Given the description of an element on the screen output the (x, y) to click on. 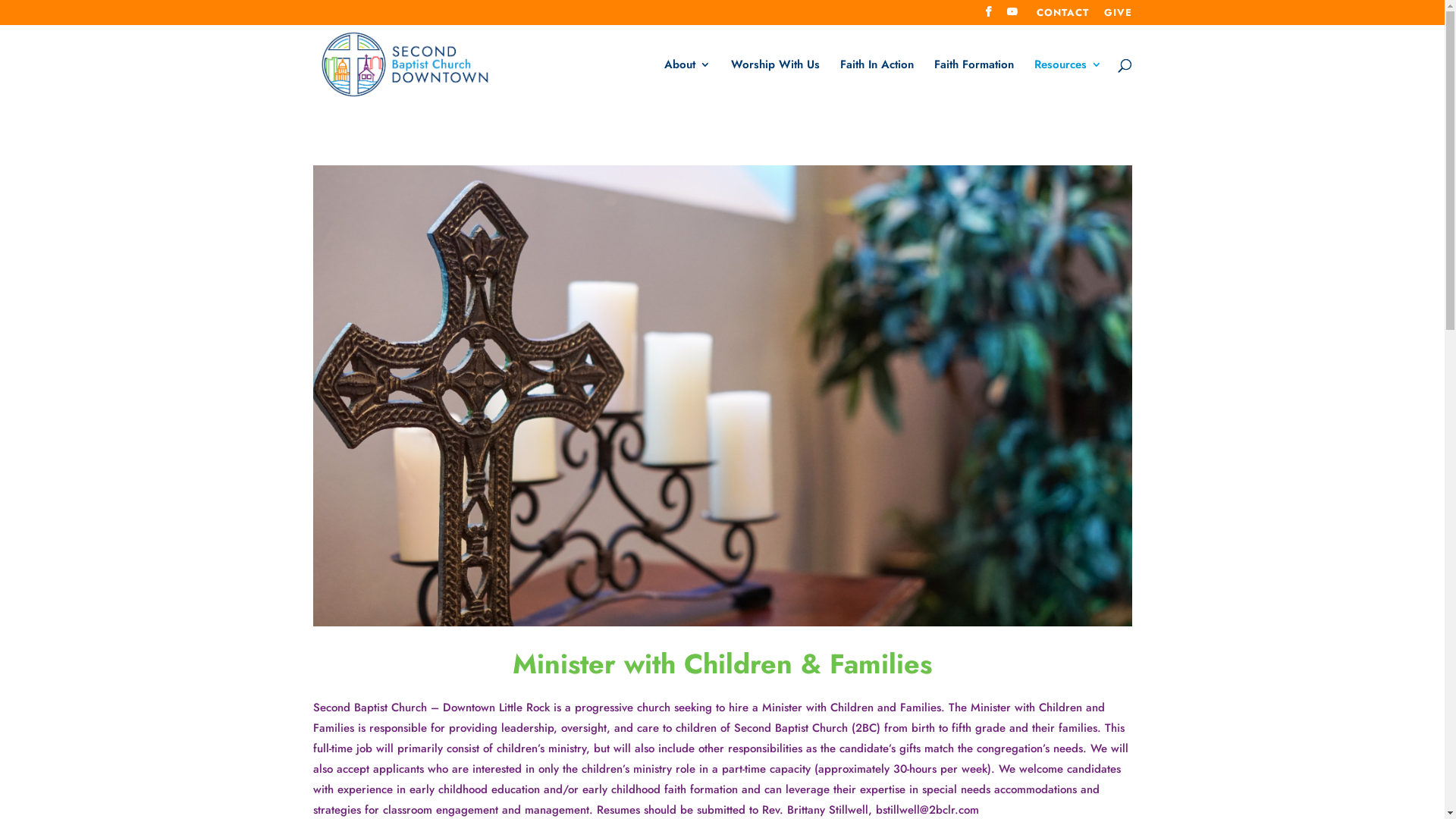
Worship With Us Element type: text (775, 81)
About Element type: text (687, 81)
2ndBC_fullset (30 of 460).jpg Element type: hover (721, 395)
bstillwell@2bclr.com Element type: text (926, 809)
GIVE Element type: text (1118, 16)
CONTACT Element type: text (1061, 16)
Faith In Action Element type: text (876, 81)
Faith Formation Element type: text (973, 81)
Resources Element type: text (1067, 81)
